Given the description of an element on the screen output the (x, y) to click on. 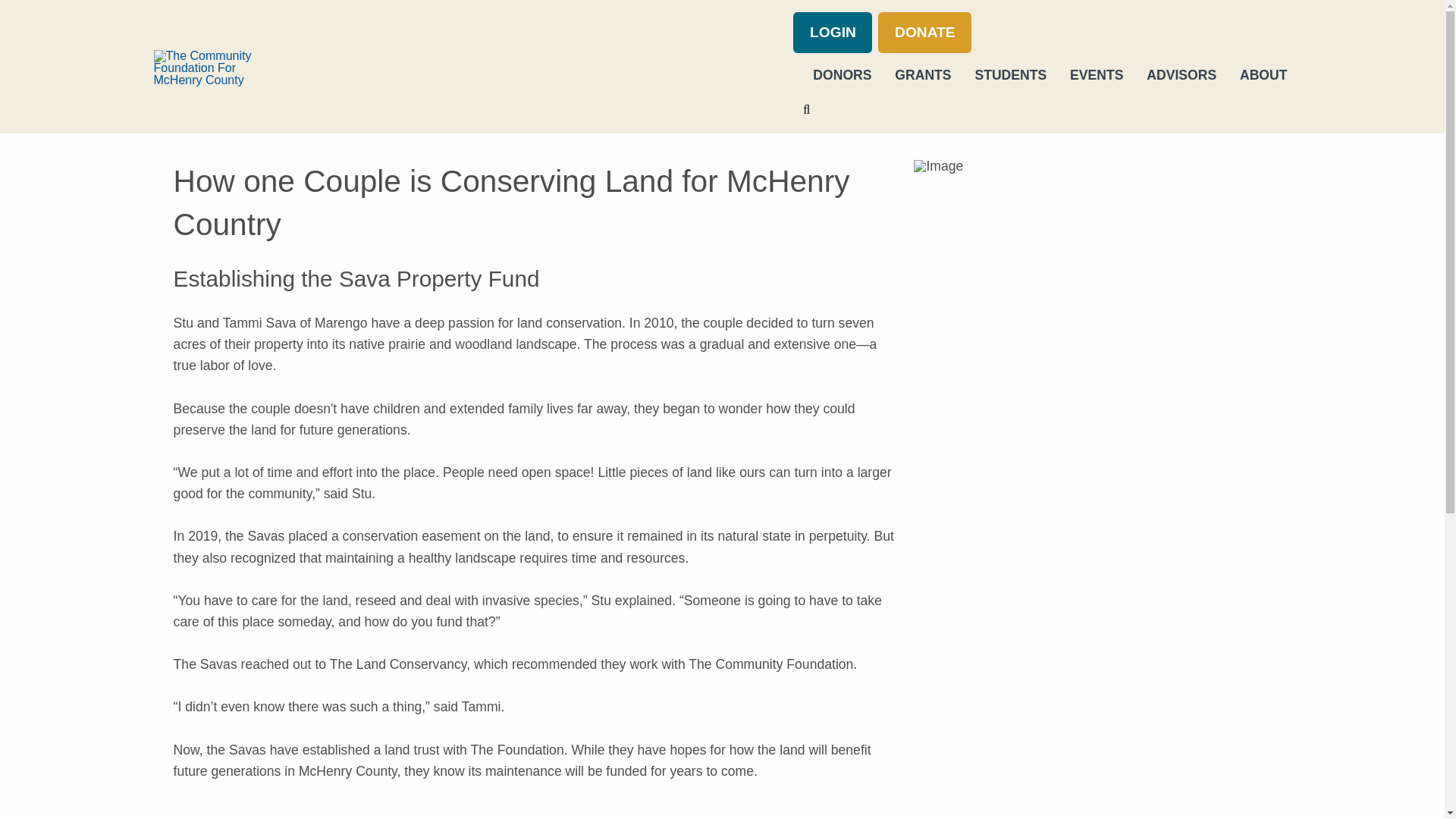
DONATE (924, 32)
EVENTS (1087, 75)
STUDENTS (1003, 75)
LOGIN (832, 32)
GRANTS (915, 75)
DONORS (834, 75)
ADVISORS (1173, 75)
ABOUT (1255, 75)
